Given the description of an element on the screen output the (x, y) to click on. 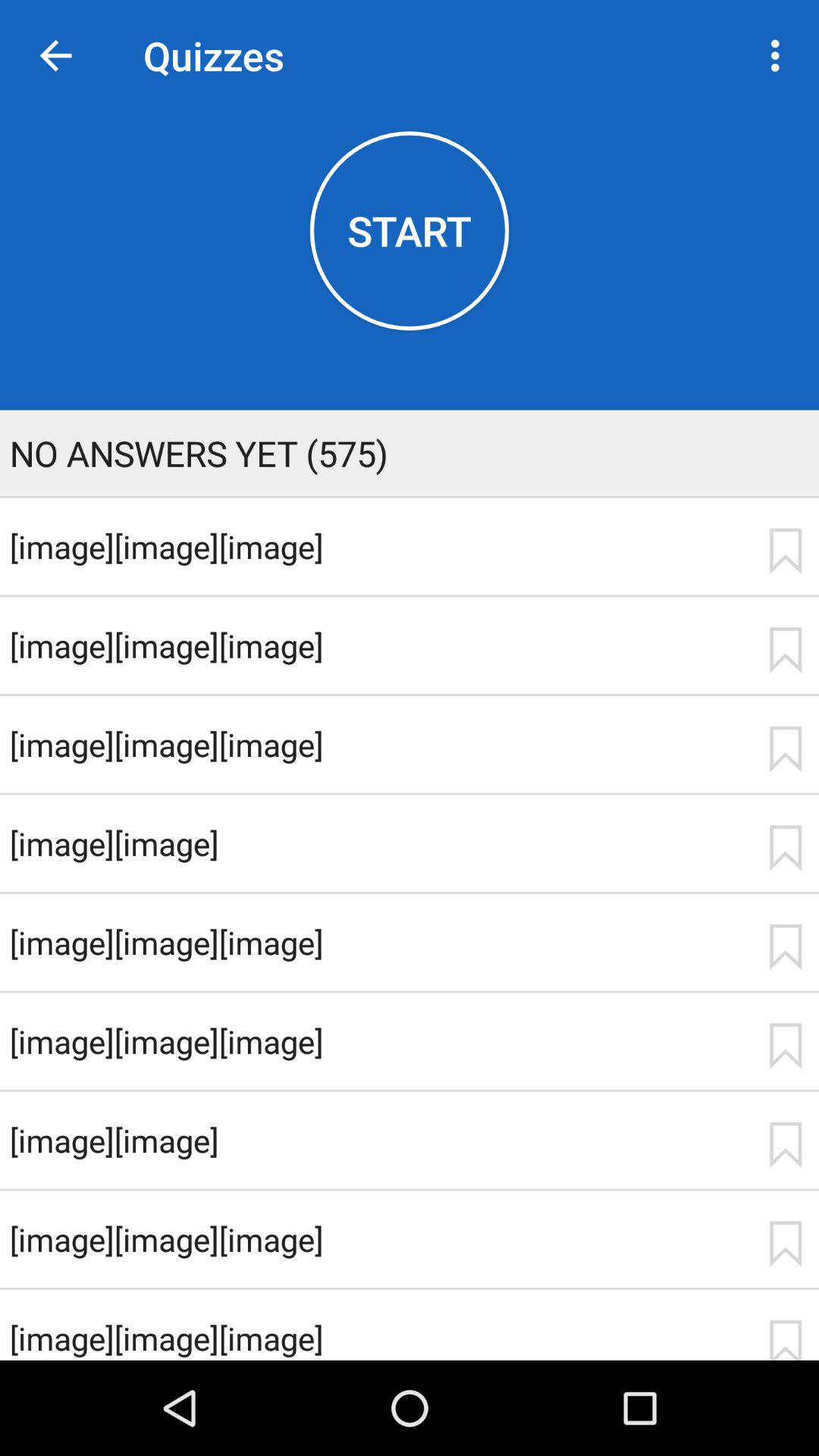
select item to the right of the [image][image][image] (784, 650)
